Given the description of an element on the screen output the (x, y) to click on. 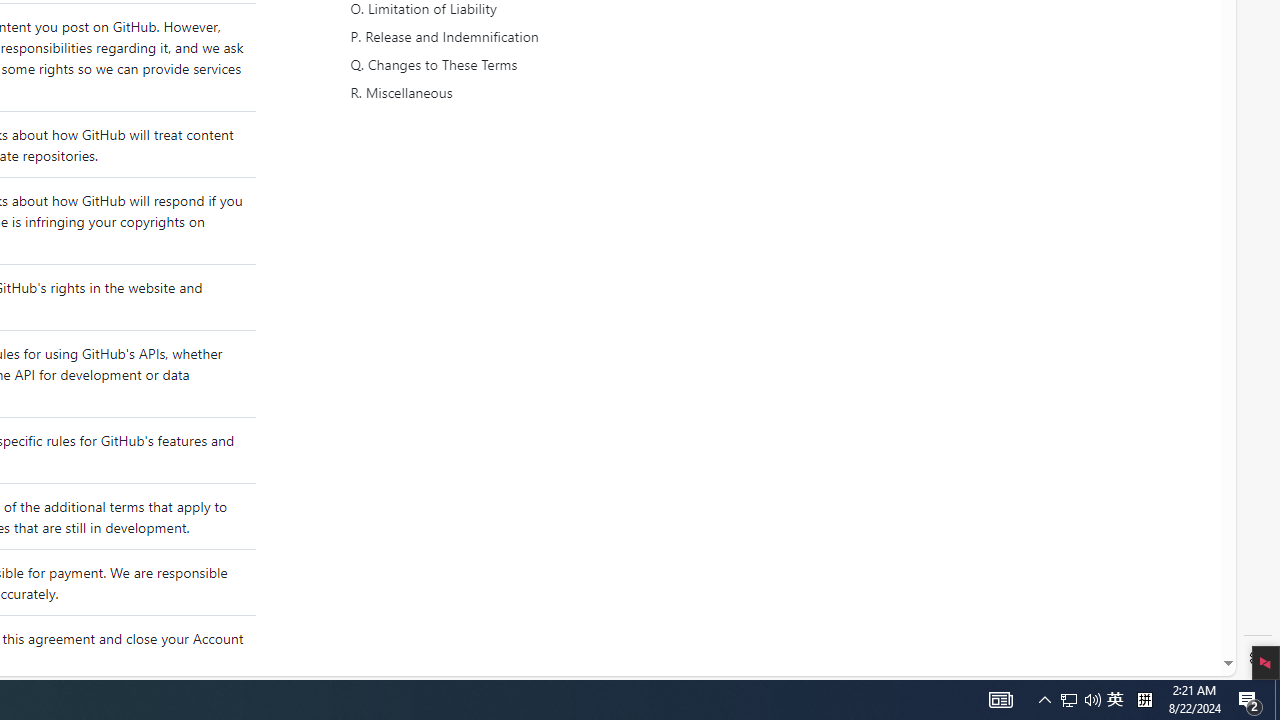
P. Release and Indemnification (535, 37)
R. Miscellaneous (535, 93)
P. Release and Indemnification (538, 37)
R. Miscellaneous (538, 93)
Q. Changes to These Terms (535, 65)
Q. Changes to These Terms (538, 65)
